Given the description of an element on the screen output the (x, y) to click on. 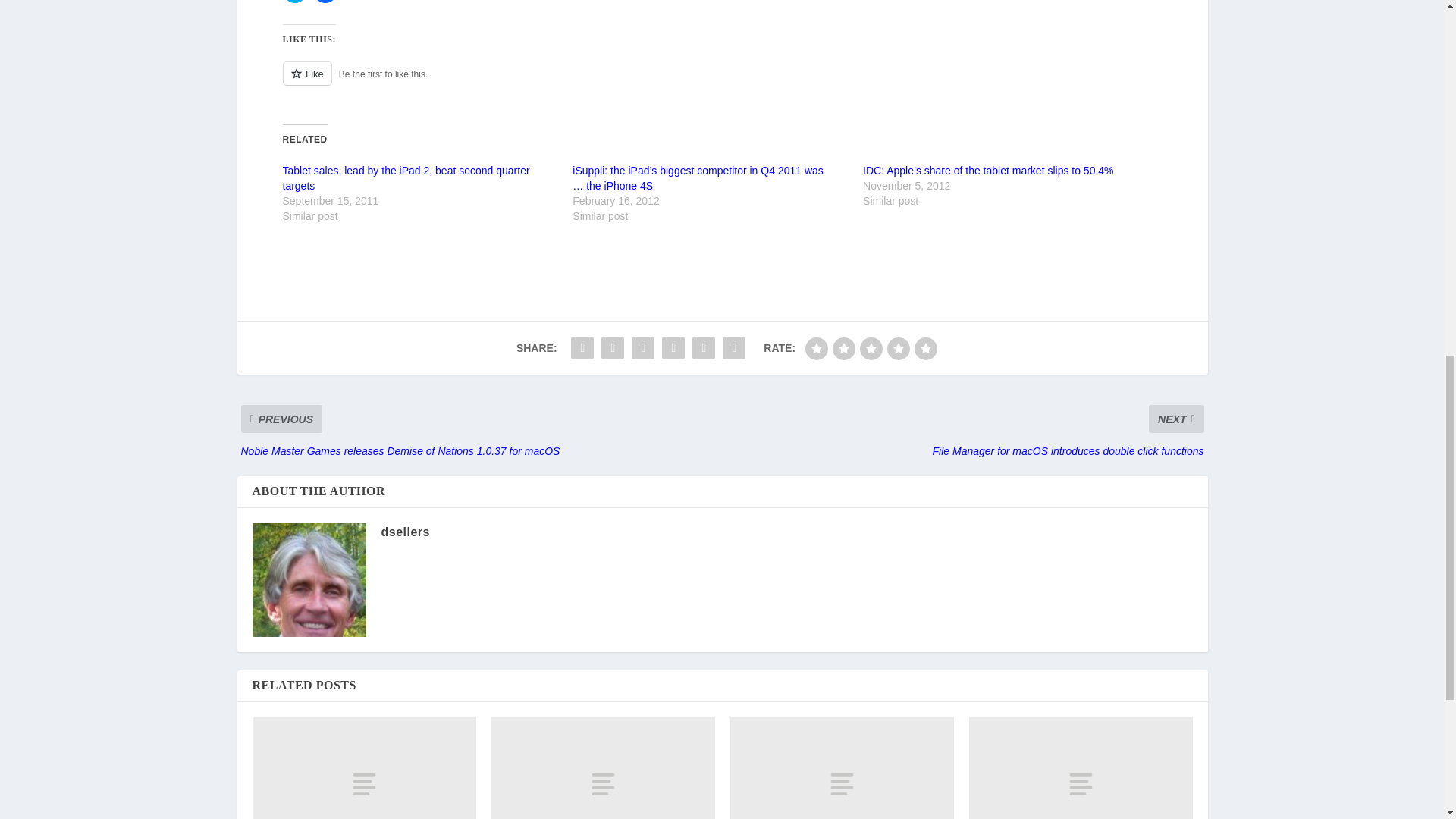
Click to share on Facebook (324, 1)
Click to share on Twitter (293, 1)
Like or Reblog (721, 82)
